Given the description of an element on the screen output the (x, y) to click on. 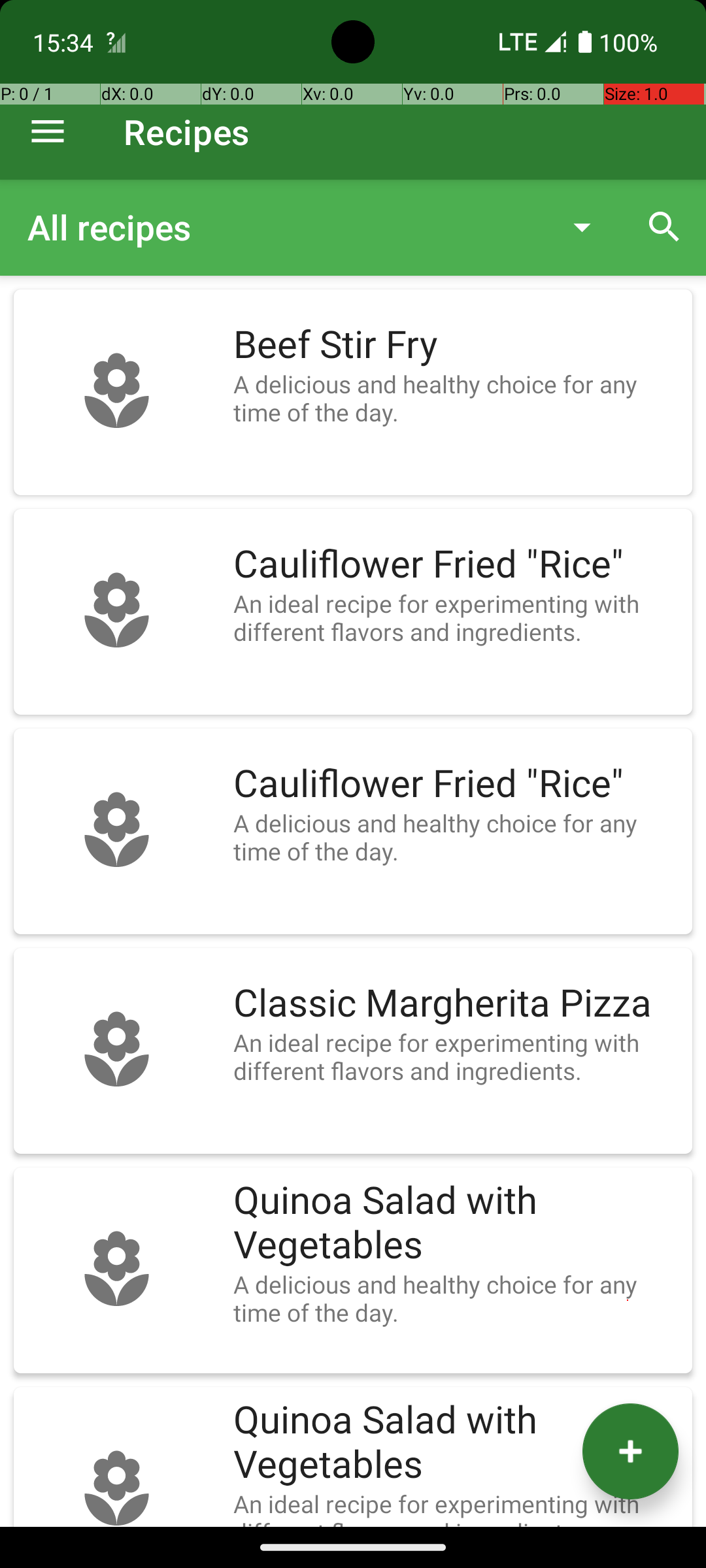
Quinoa Salad with Vegetables Element type: android.widget.TextView (455, 1222)
